Given the description of an element on the screen output the (x, y) to click on. 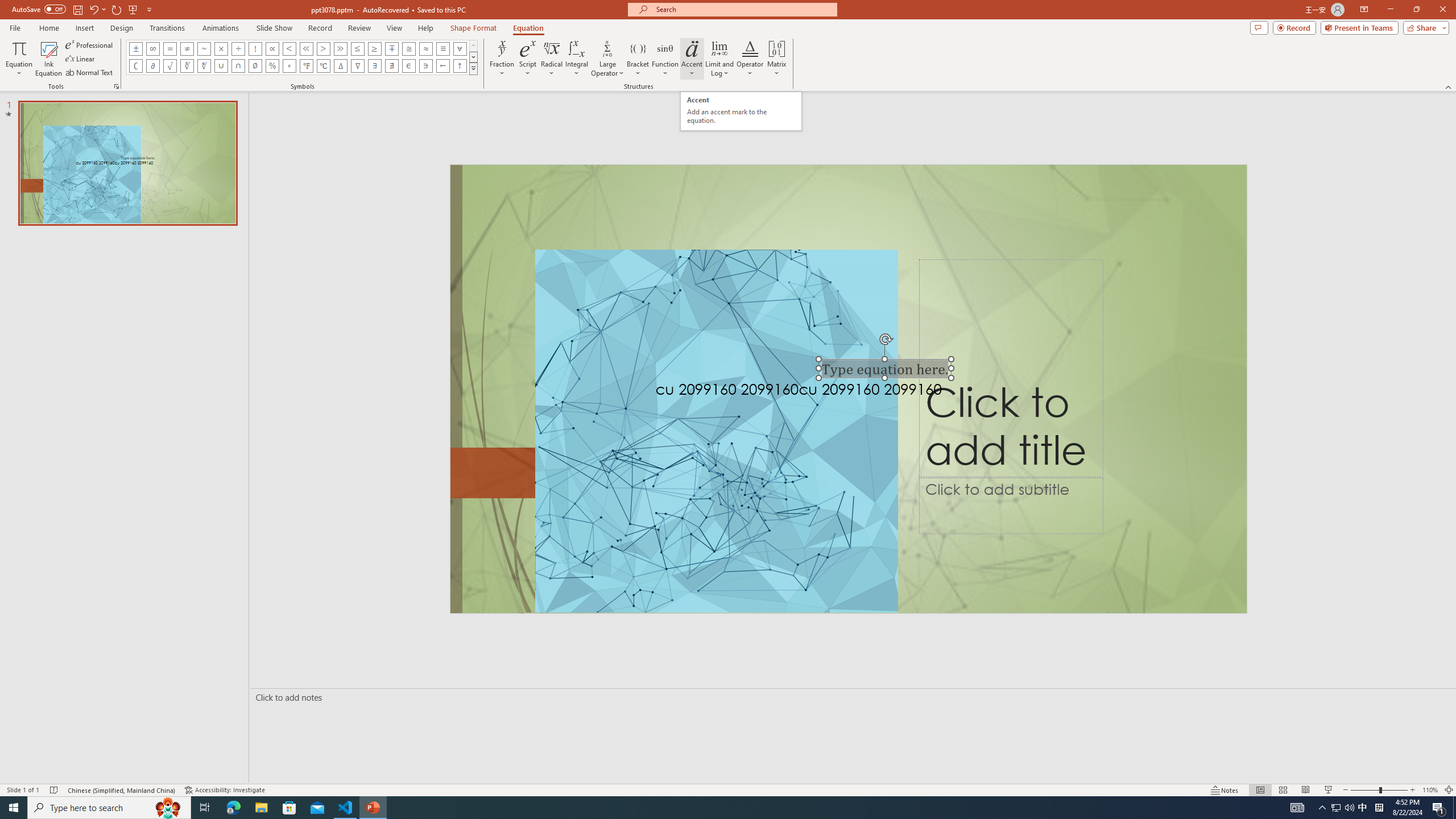
Equation Symbol Intersection (238, 65)
Equation Symbol Much Greater Than (340, 48)
Accent (691, 58)
Shape Format (473, 28)
Equation Symbol Partial Differential (152, 65)
Equation Symbol Up Arrow (459, 65)
Equation Symbol Identical To (442, 48)
Equation Symbol Union (221, 65)
Equation Symbol Fourth Root (203, 65)
